Given the description of an element on the screen output the (x, y) to click on. 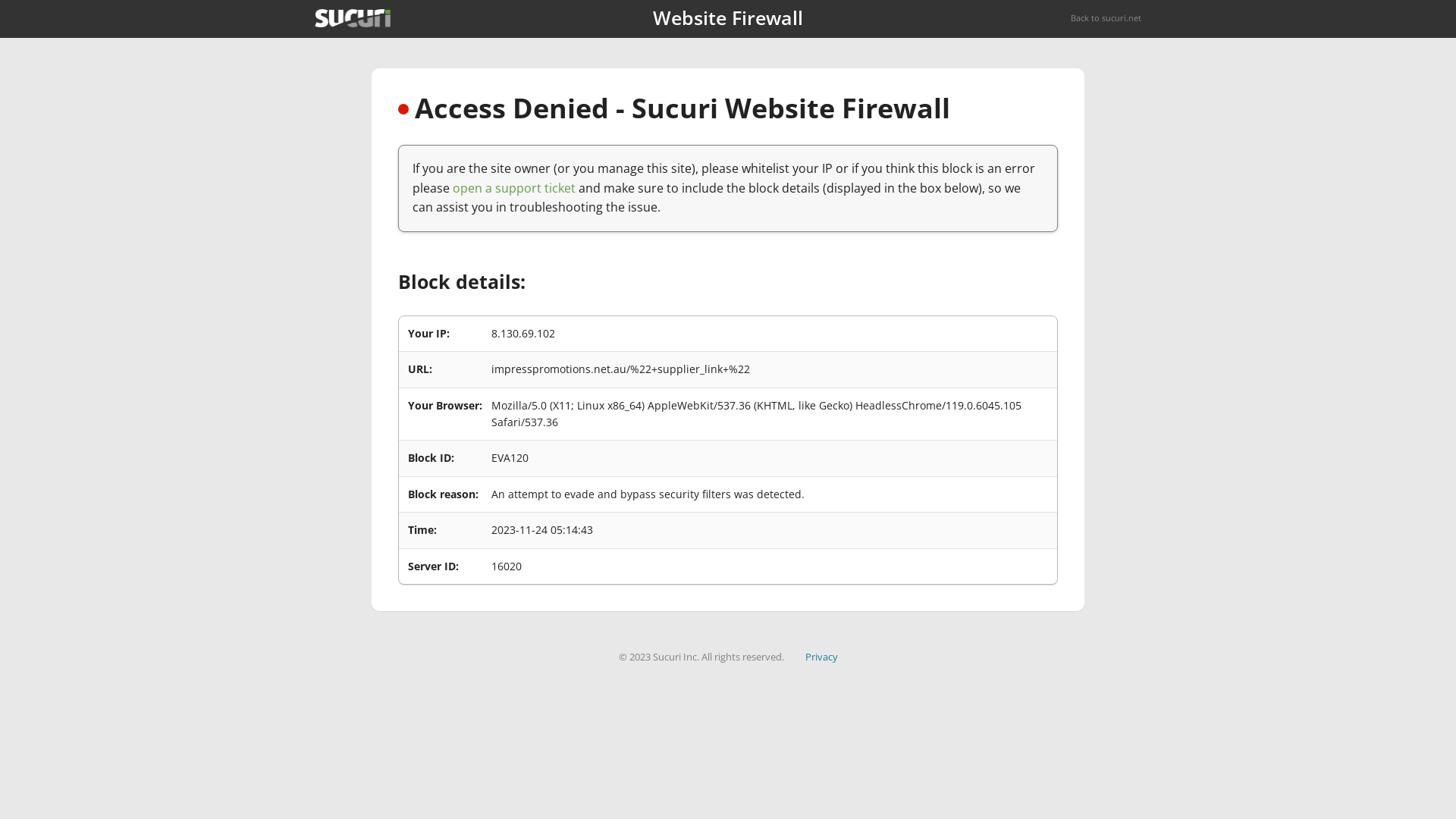
open a support ticket Element type: text (513, 187)
Privacy Element type: text (821, 656)
Back to sucuri.net Element type: text (1105, 18)
